Given the description of an element on the screen output the (x, y) to click on. 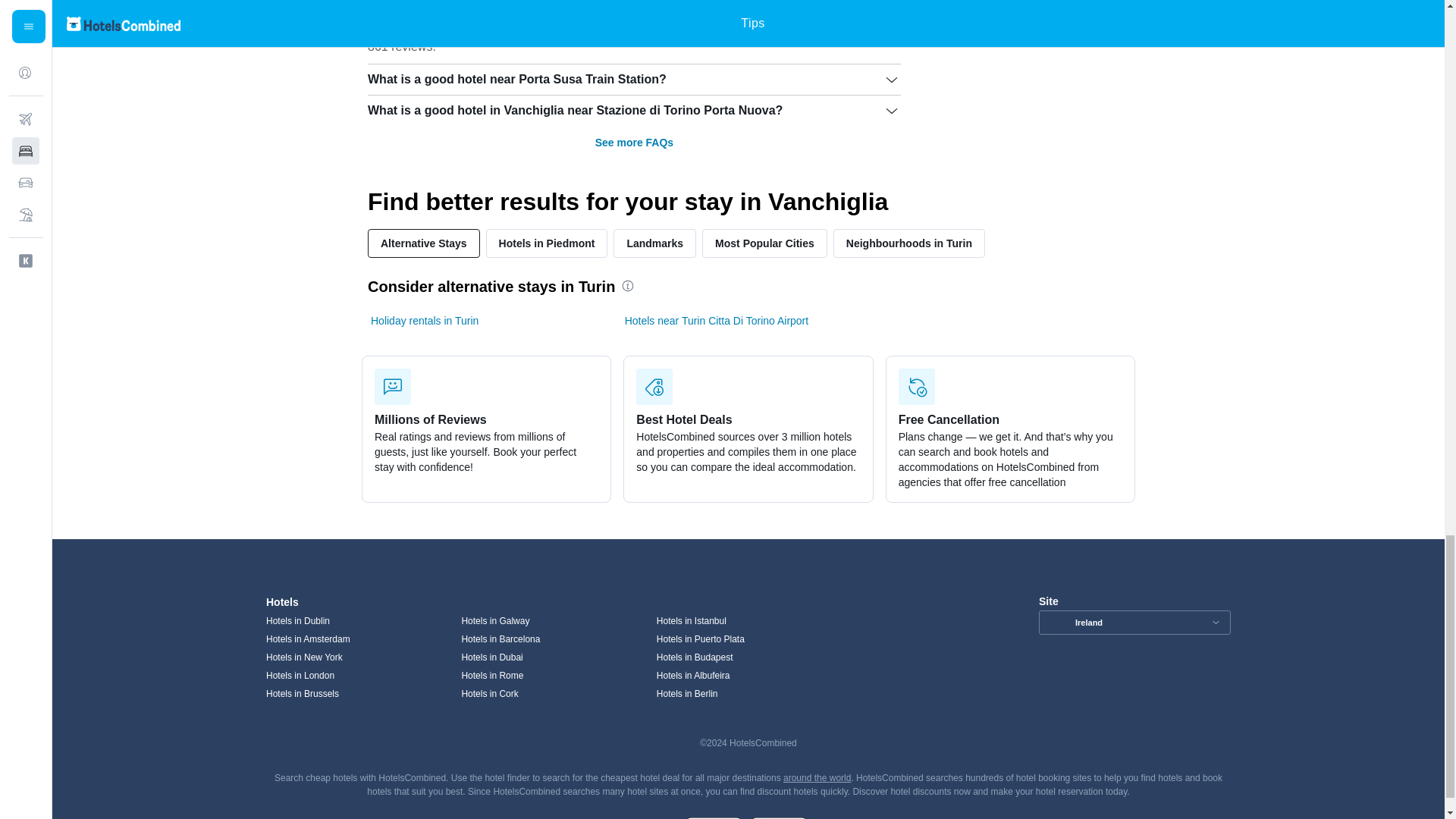
Get it on Google Play (713, 816)
Holiday rentals in Turin (425, 320)
Hotels near Turin Citta Di Torino Airport (716, 320)
Landmarks (653, 243)
Alternative Stays (424, 243)
Neighbourhoods in Turin (908, 243)
Hotels in Piedmont (547, 243)
Most Popular Cities (764, 243)
Download on the App Store (778, 816)
